Given the description of an element on the screen output the (x, y) to click on. 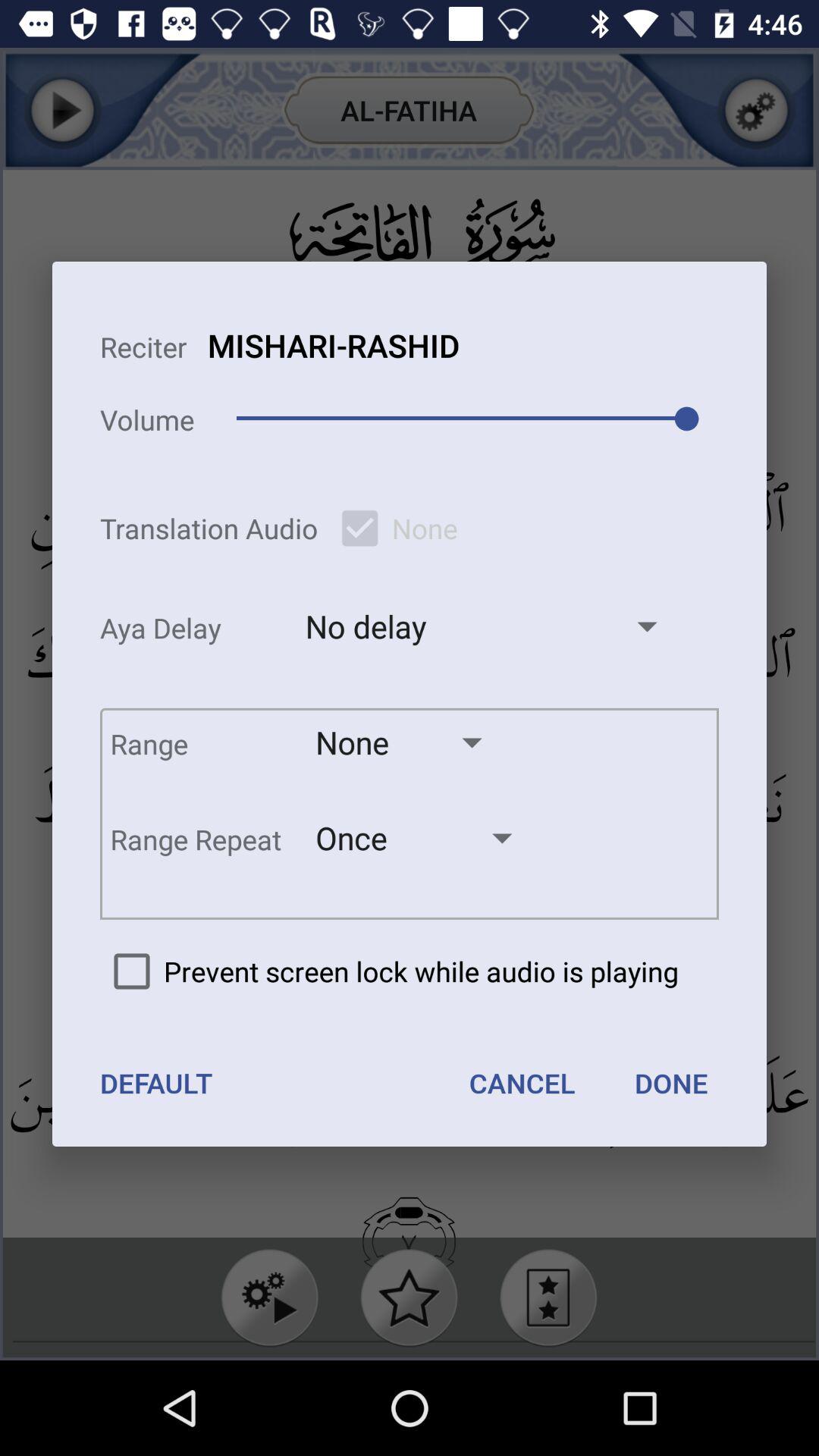
open the item at the bottom left corner (156, 1082)
